Given the description of an element on the screen output the (x, y) to click on. 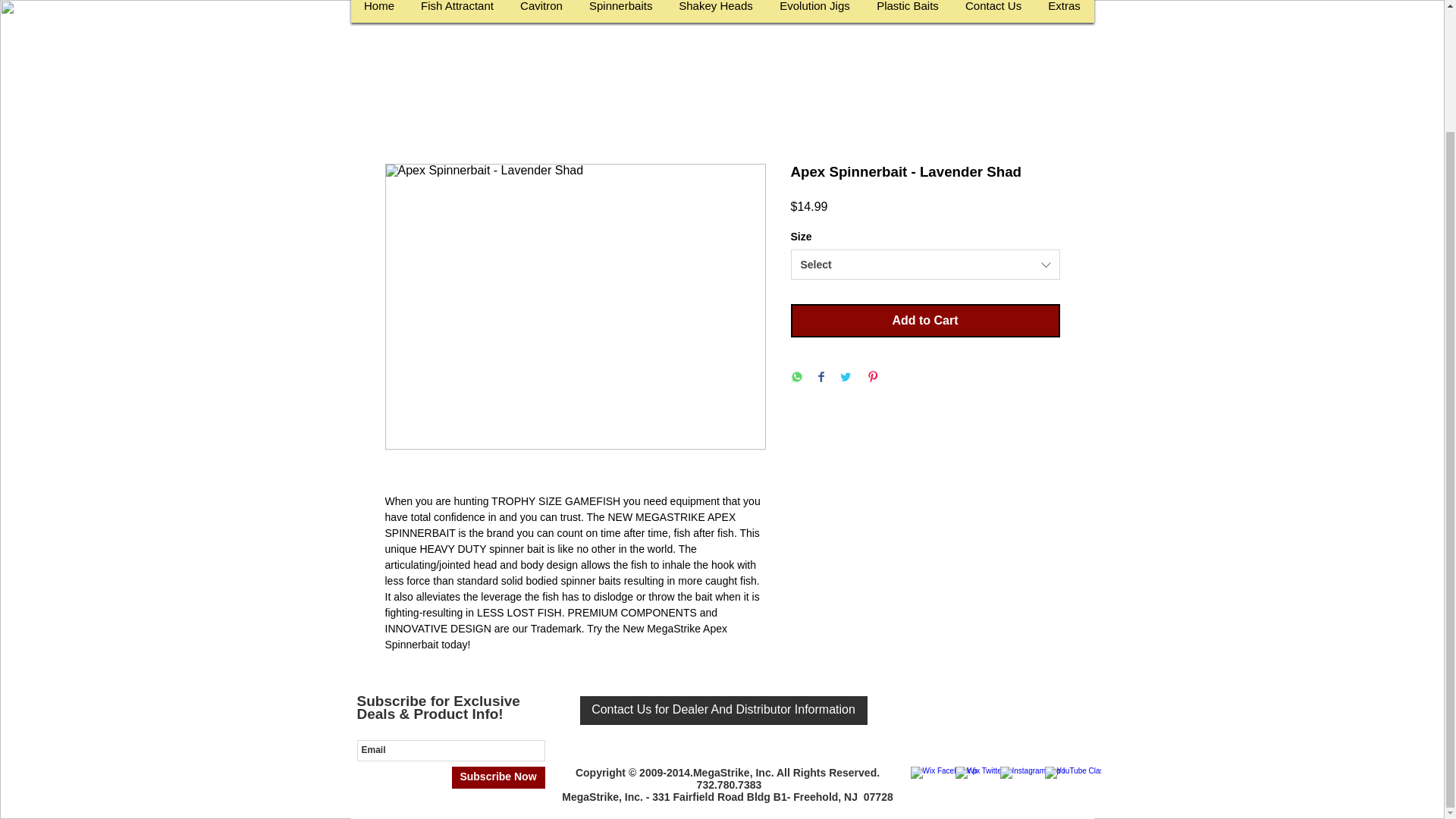
Contact Us (993, 15)
Contact Us for Dealer And Distributor Information (722, 710)
Evolution Jigs (814, 15)
Cavitron (540, 15)
Select (924, 264)
Plastic Baits (907, 15)
Extras (1063, 15)
Fish Attractant (456, 15)
Spinnerbaits (620, 15)
Home (378, 15)
